Given the description of an element on the screen output the (x, y) to click on. 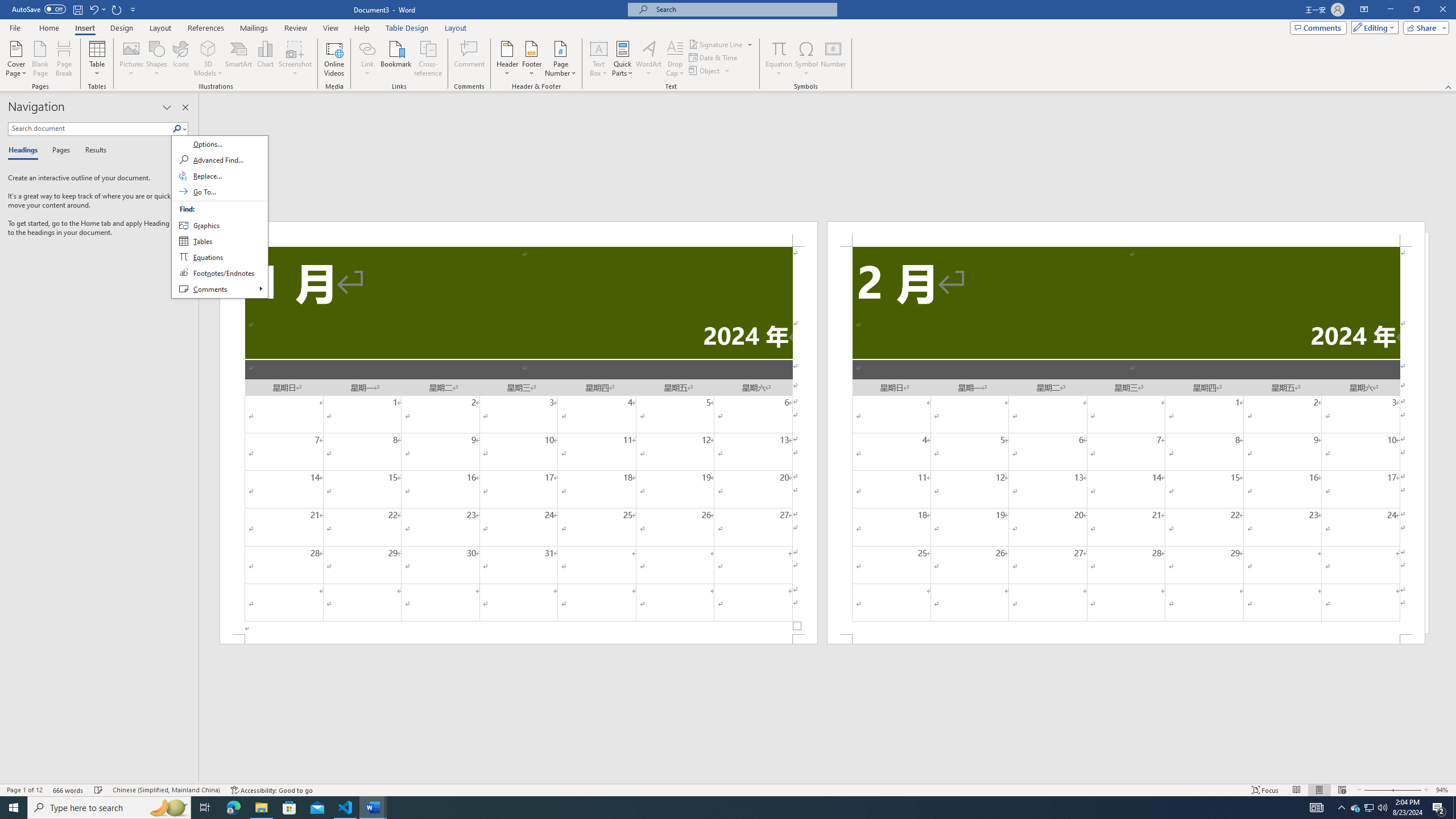
Word - 2 running windows (373, 807)
Icons (180, 58)
Footer (531, 58)
Blank Page (40, 58)
Signature Line (716, 44)
Chart... (265, 58)
Link (367, 48)
Screenshot (295, 58)
